Given the description of an element on the screen output the (x, y) to click on. 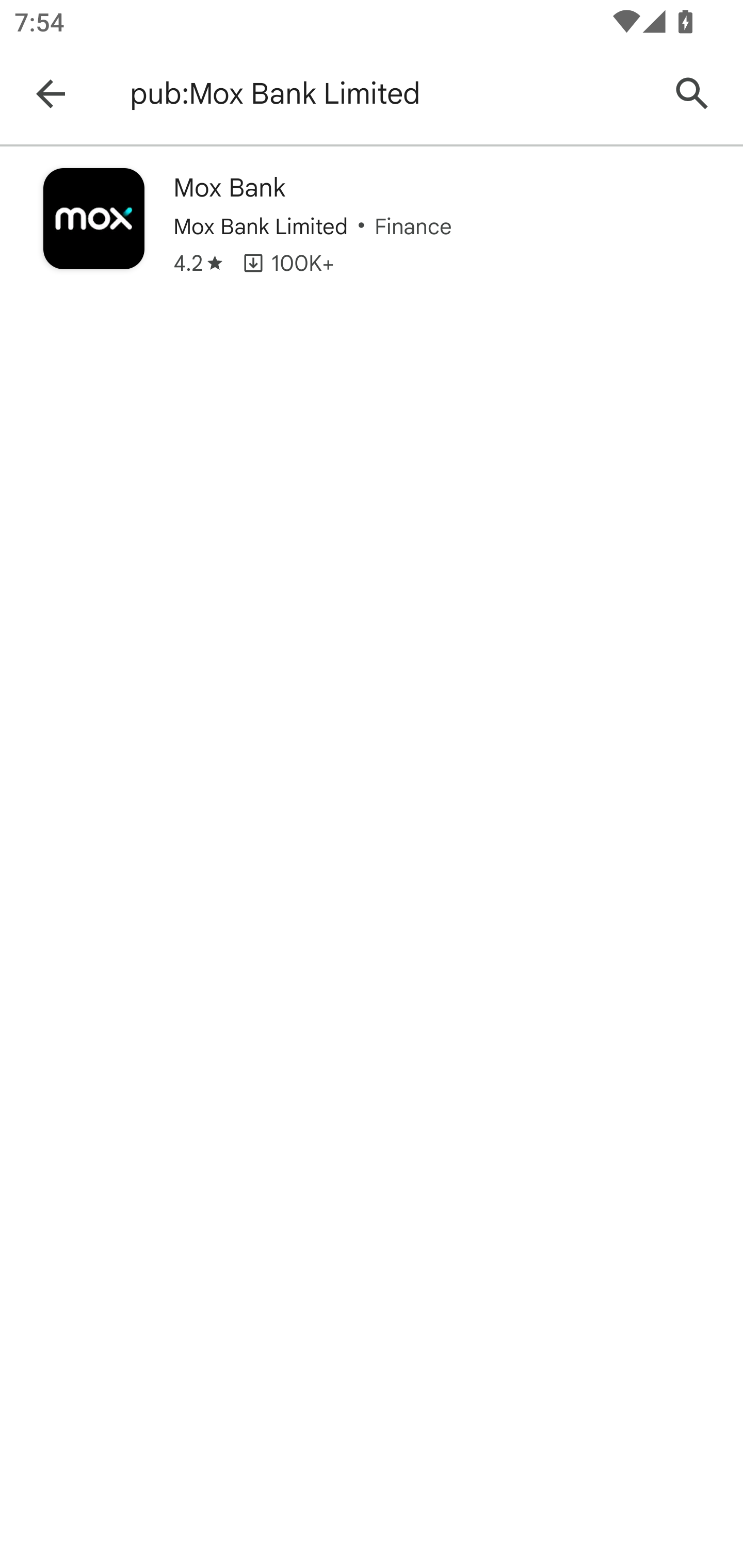
pub:Mox Bank Limited (389, 93)
Navigate up (50, 93)
Search Google Play (692, 93)
